Given the description of an element on the screen output the (x, y) to click on. 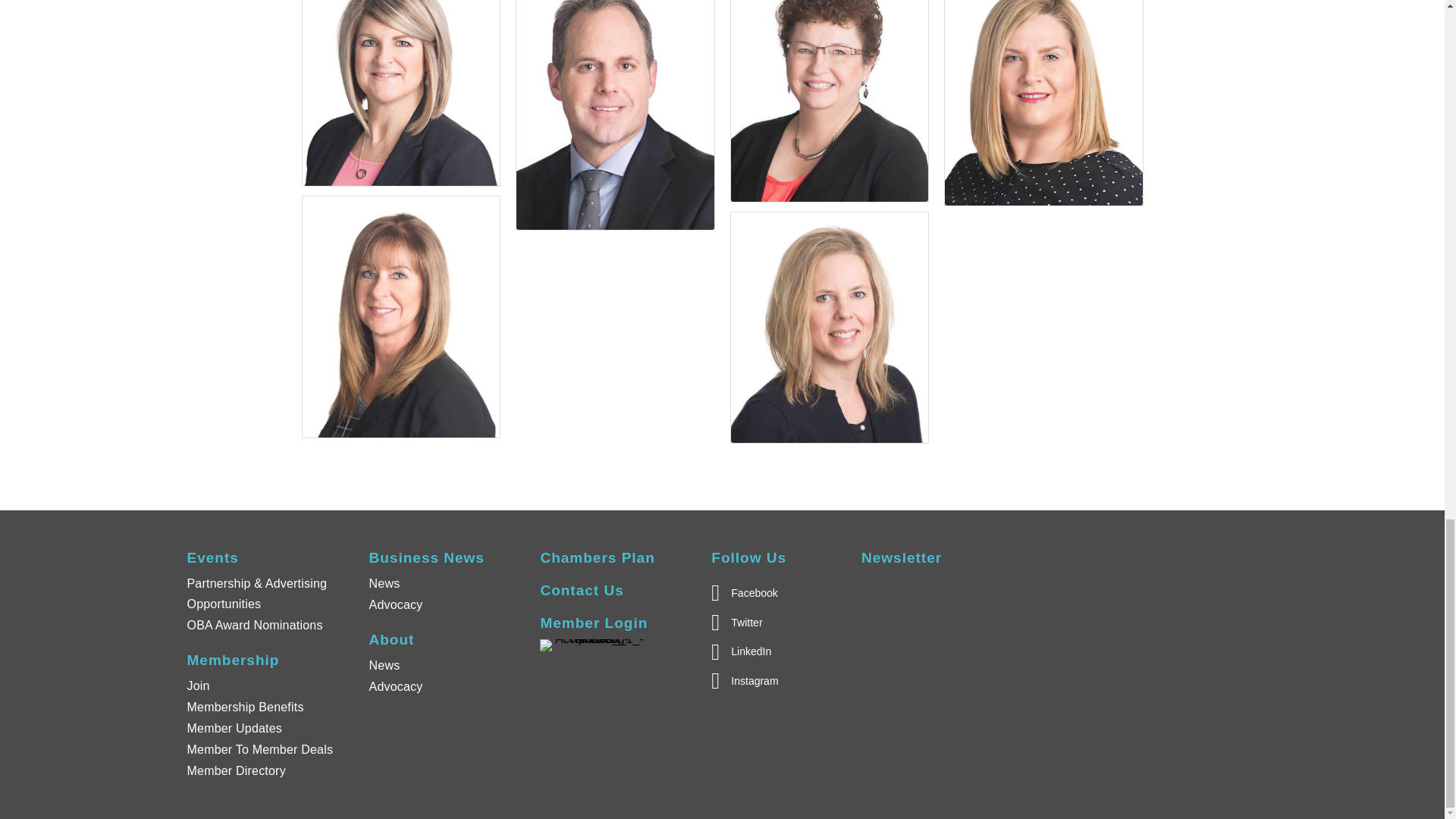
Lisa Loughery, Chief Executive Office (400, 92)
Leah Burke, Commercial Banking Manager (1043, 102)
Ginny Hourihan, Human Resource Manager (829, 100)
